Given the description of an element on the screen output the (x, y) to click on. 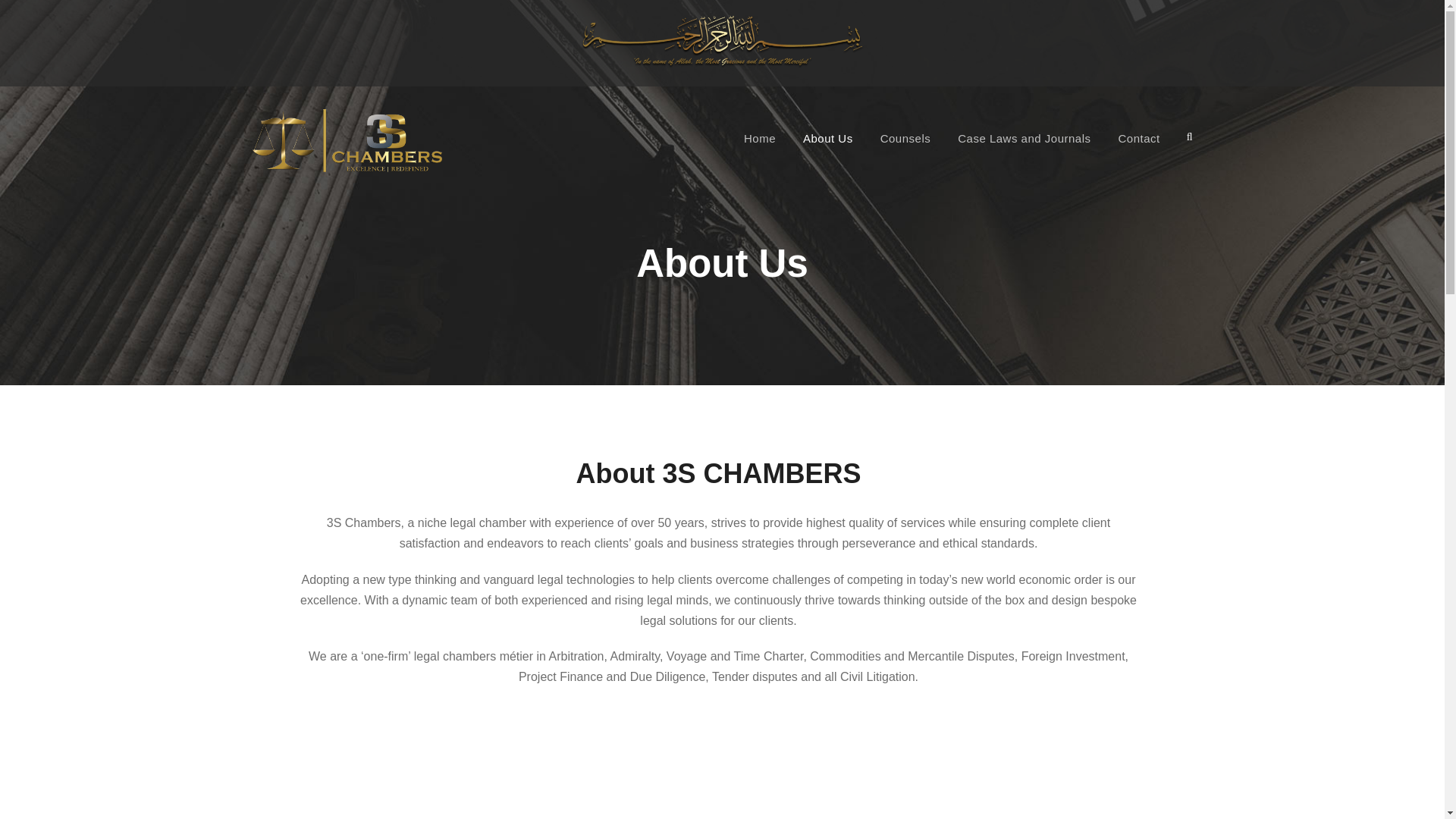
3s-new-logo (346, 139)
Case Laws and Journals (1024, 149)
Contact (1138, 149)
About Us (828, 149)
Counsels (905, 149)
